Given the description of an element on the screen output the (x, y) to click on. 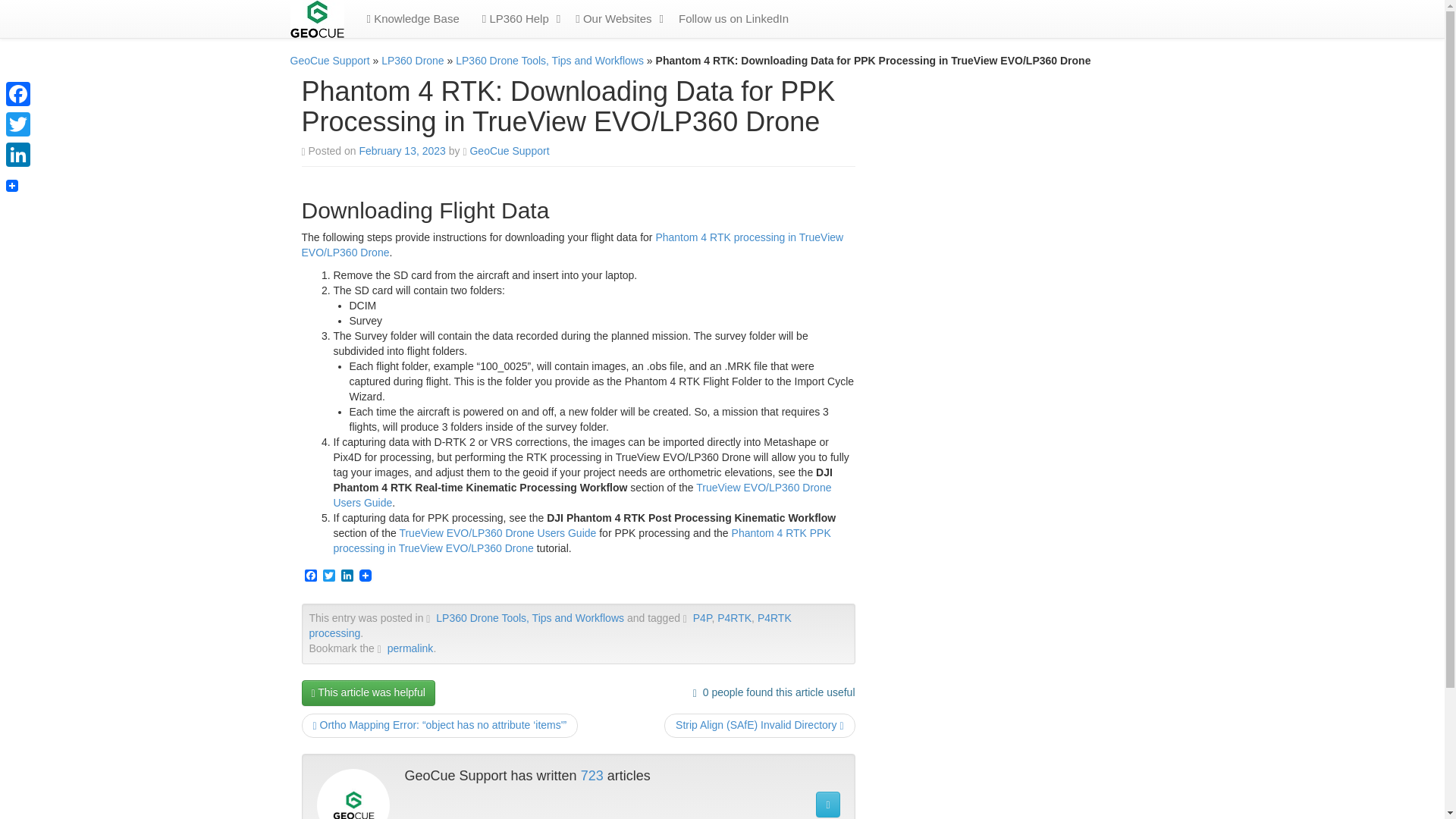
Facebook (310, 576)
Facebook (310, 576)
LinkedIn (346, 576)
LP360 Drone Tools, Tips and Workflows (549, 60)
Twitter (17, 123)
GeoCue Support (508, 150)
Twitter (328, 576)
LP360 Drone Tools, Tips and Workflows (529, 617)
LP360 Drone (412, 60)
February 13, 2023 (401, 150)
Twitter (328, 576)
LP360 Help (511, 18)
LinkedIn (17, 154)
LinkedIn (346, 576)
permalink (410, 648)
